Given the description of an element on the screen output the (x, y) to click on. 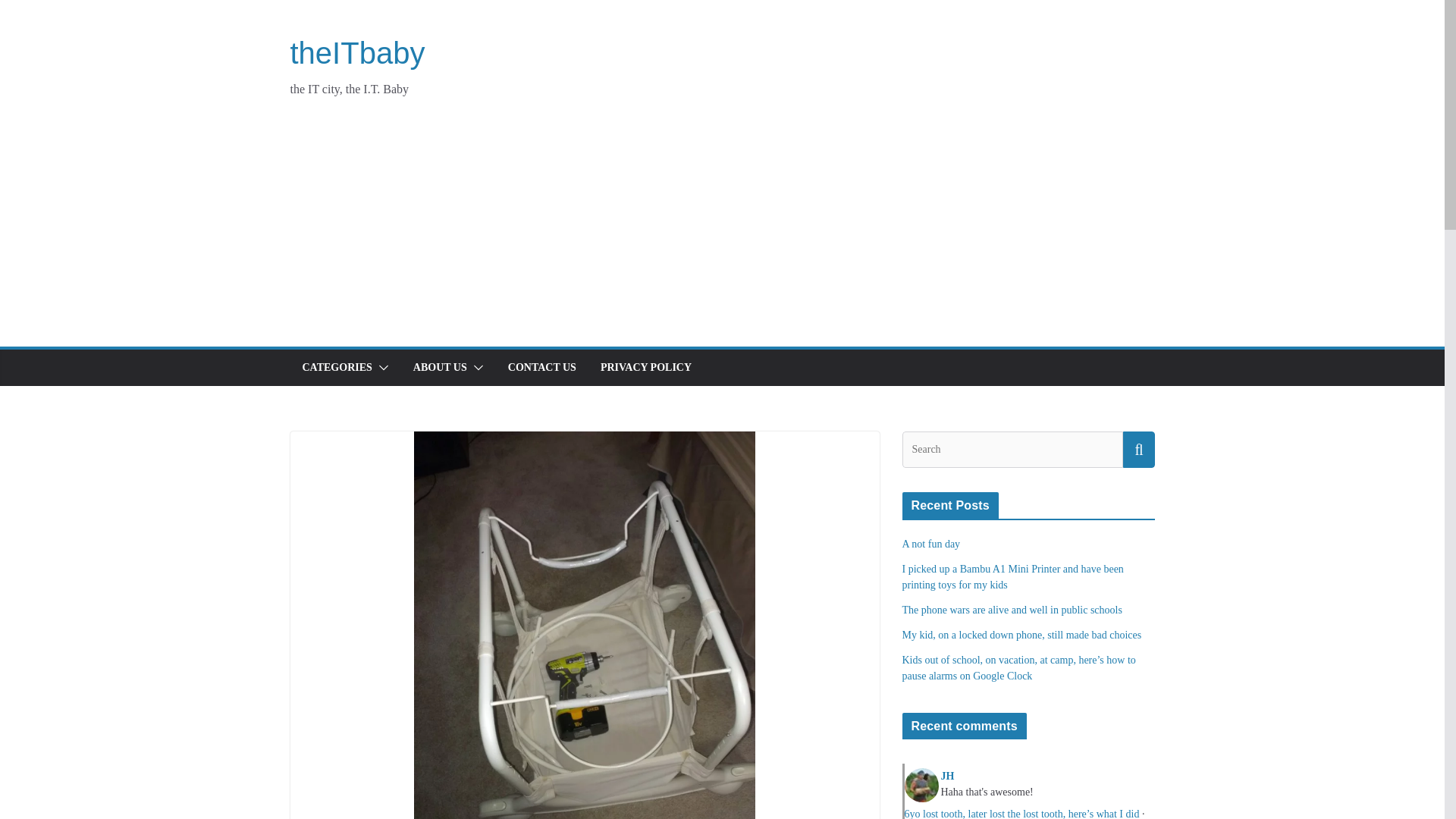
CONTACT US (542, 367)
PRIVACY POLICY (645, 367)
theITbaby (357, 52)
CATEGORIES (336, 367)
ABOUT US (440, 367)
A not fun day (931, 543)
theITbaby (357, 52)
